Given the description of an element on the screen output the (x, y) to click on. 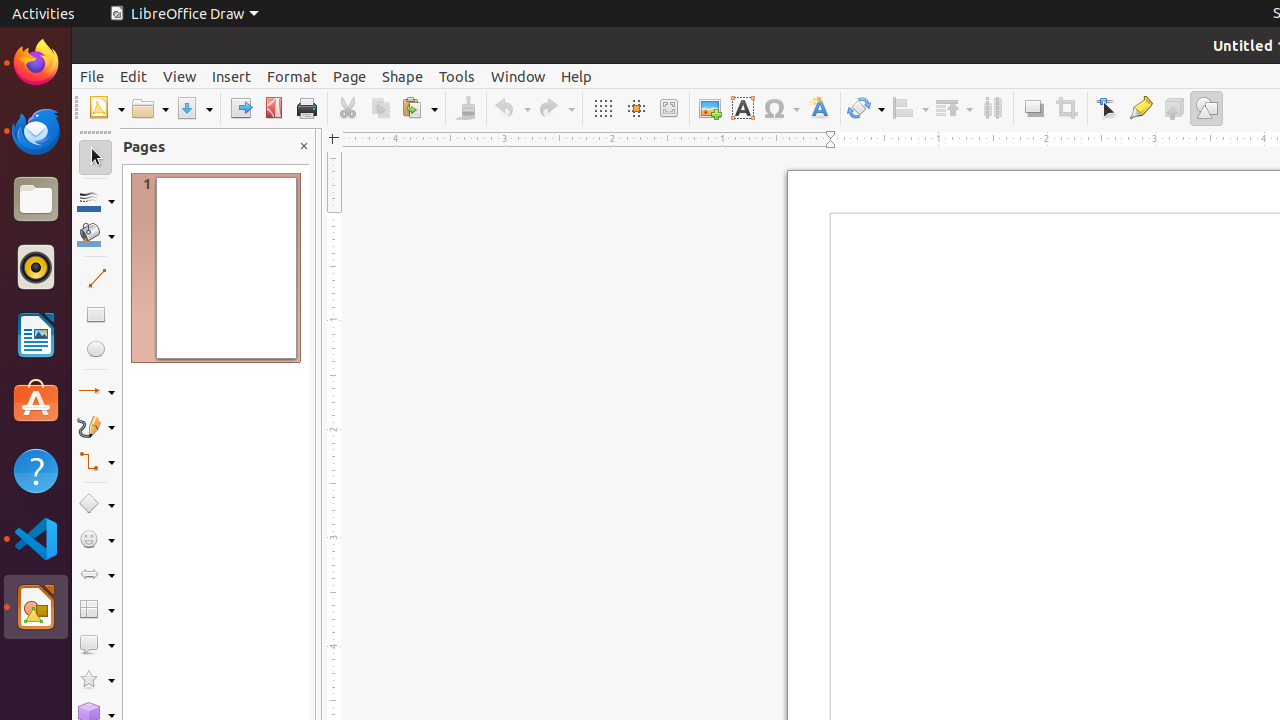
Callout Shapes Element type: push-button (96, 644)
Basic Shapes Element type: push-button (96, 504)
Paste Element type: push-button (419, 108)
Transformations Element type: push-button (866, 108)
